Given the description of an element on the screen output the (x, y) to click on. 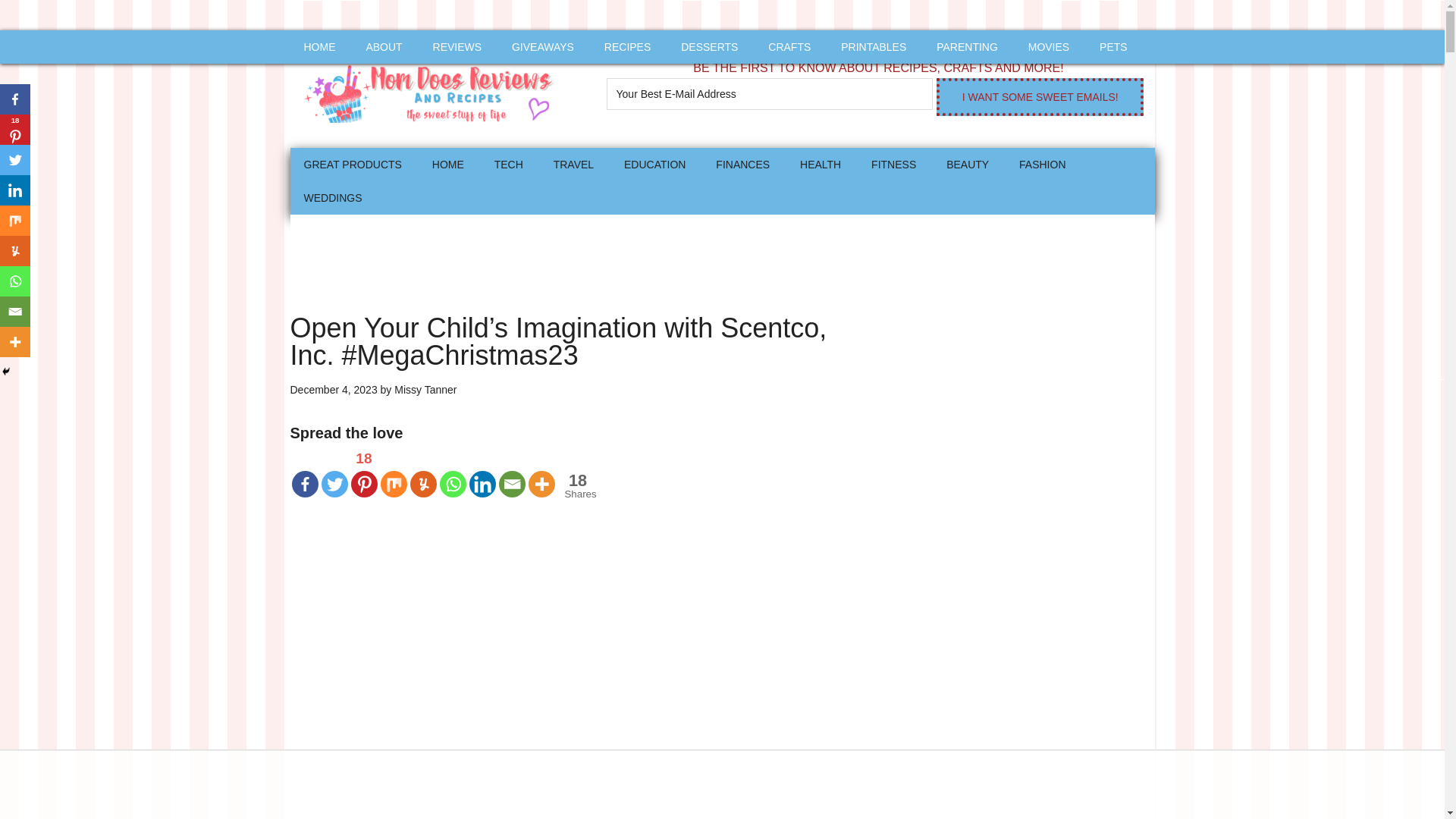
HOME (448, 164)
HOME (319, 46)
GIVEAWAYS (542, 46)
PARENTING (967, 46)
review (457, 46)
CRAFTS (789, 46)
ABOUT (383, 46)
BEAUTY (968, 164)
PRINTABLES (873, 46)
FASHION (1042, 164)
